Given the description of an element on the screen output the (x, y) to click on. 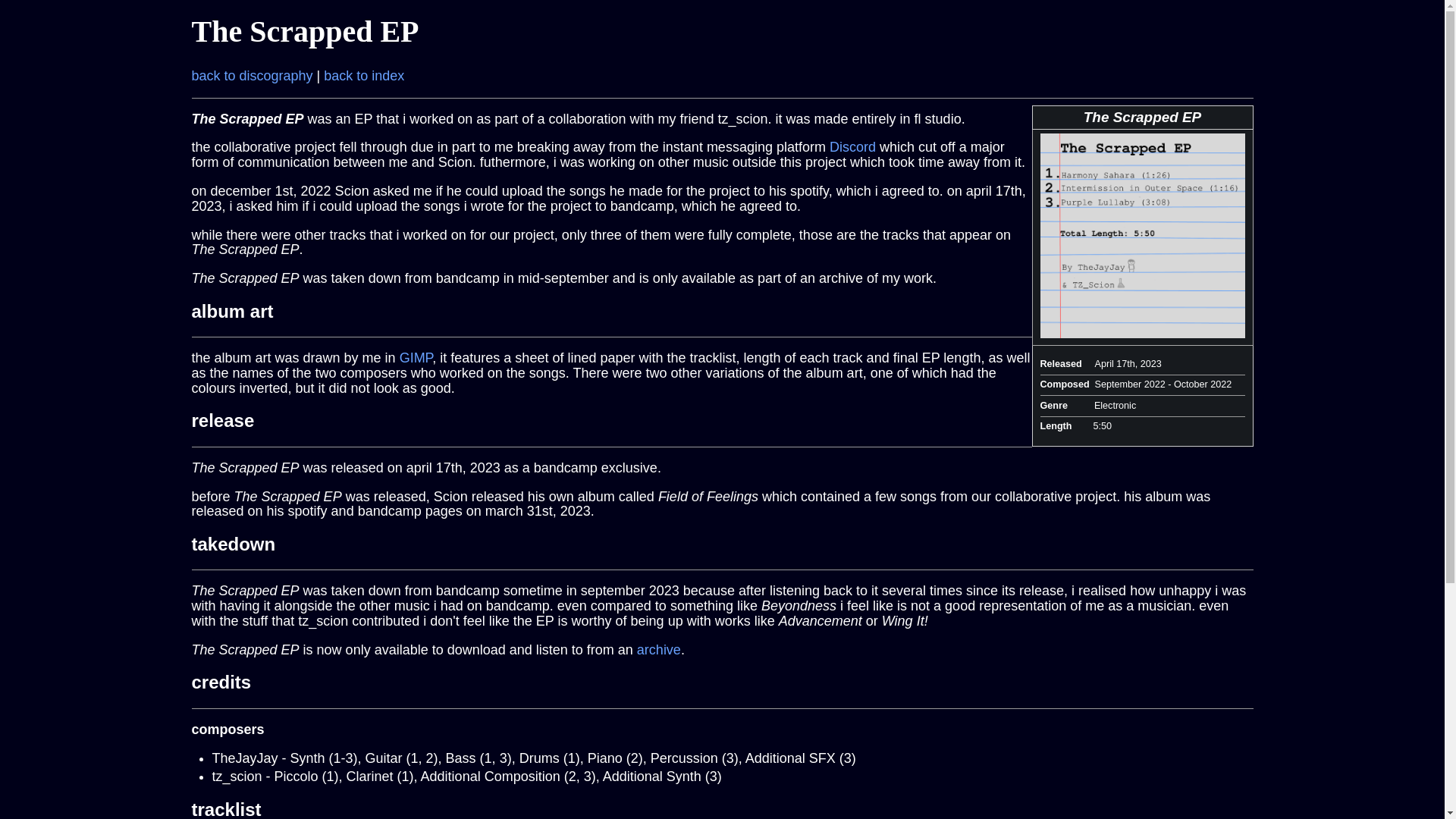
back to discography (251, 75)
GIMP (415, 357)
back to index (363, 75)
Discord (852, 146)
archive (659, 649)
